Given the description of an element on the screen output the (x, y) to click on. 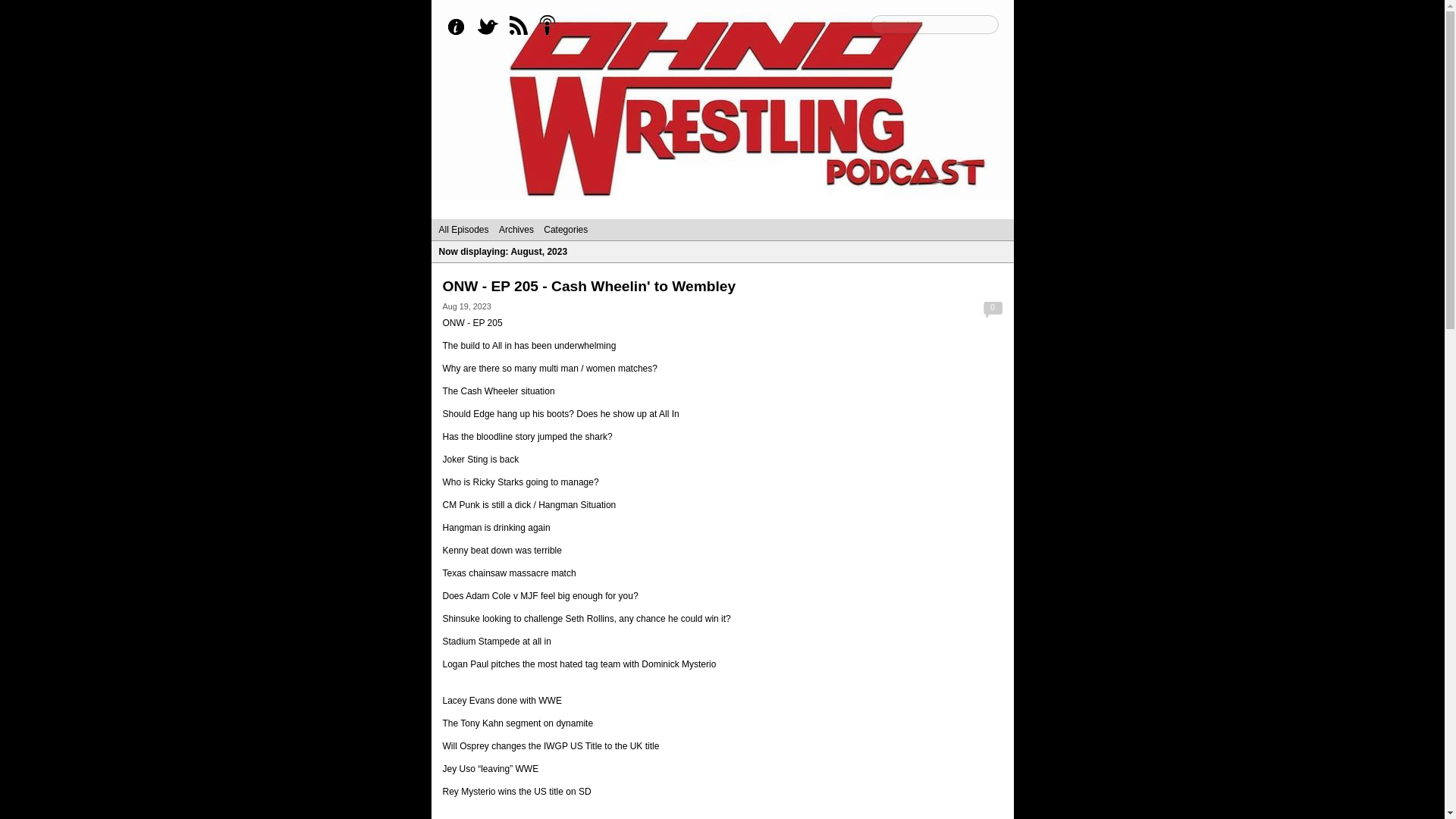
Twitter (491, 26)
Subscribe in Apple Podcasts (552, 26)
RSS Feed (521, 26)
